Given the description of an element on the screen output the (x, y) to click on. 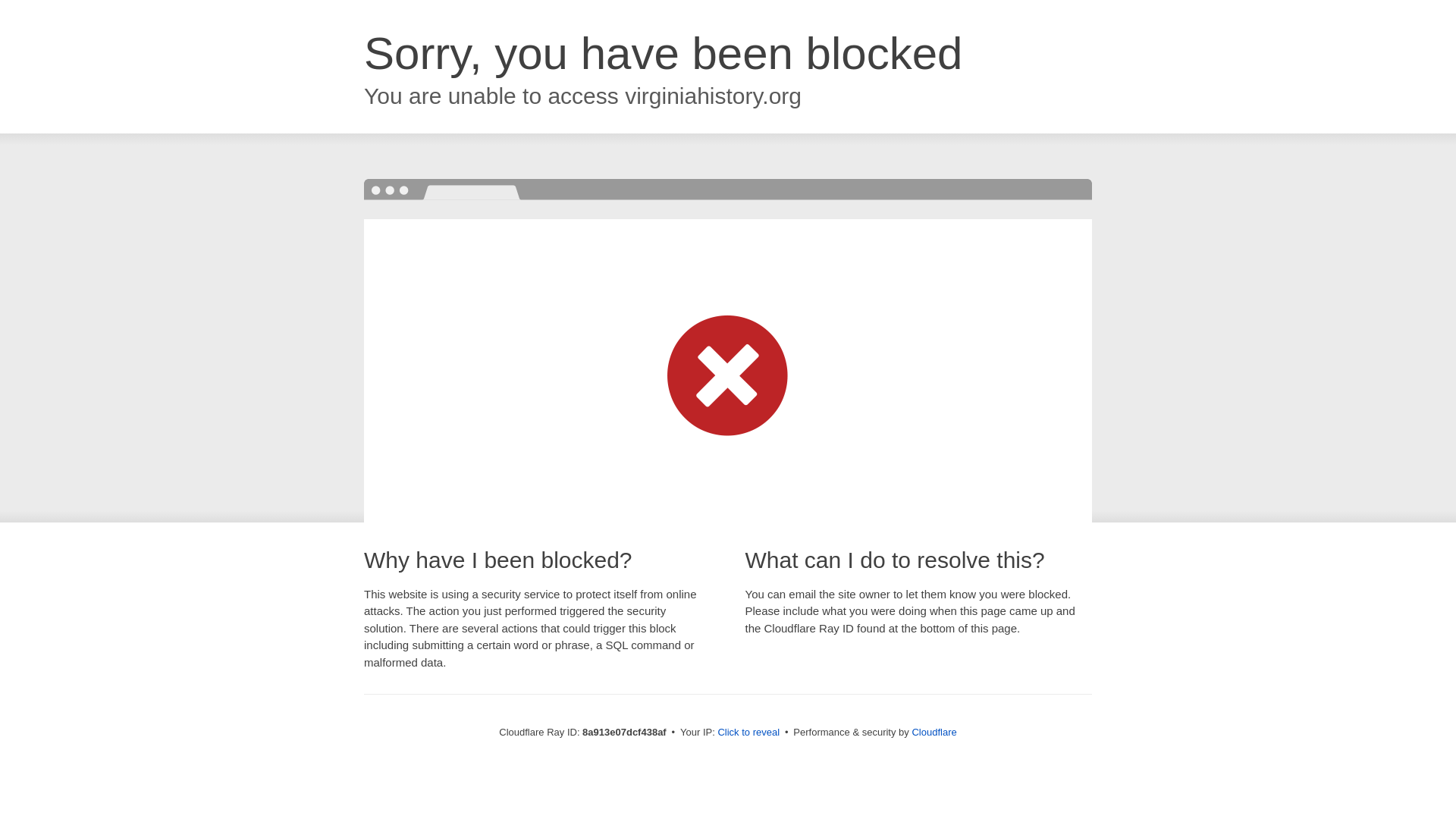
Click to reveal (747, 732)
Cloudflare (933, 731)
